Given the description of an element on the screen output the (x, y) to click on. 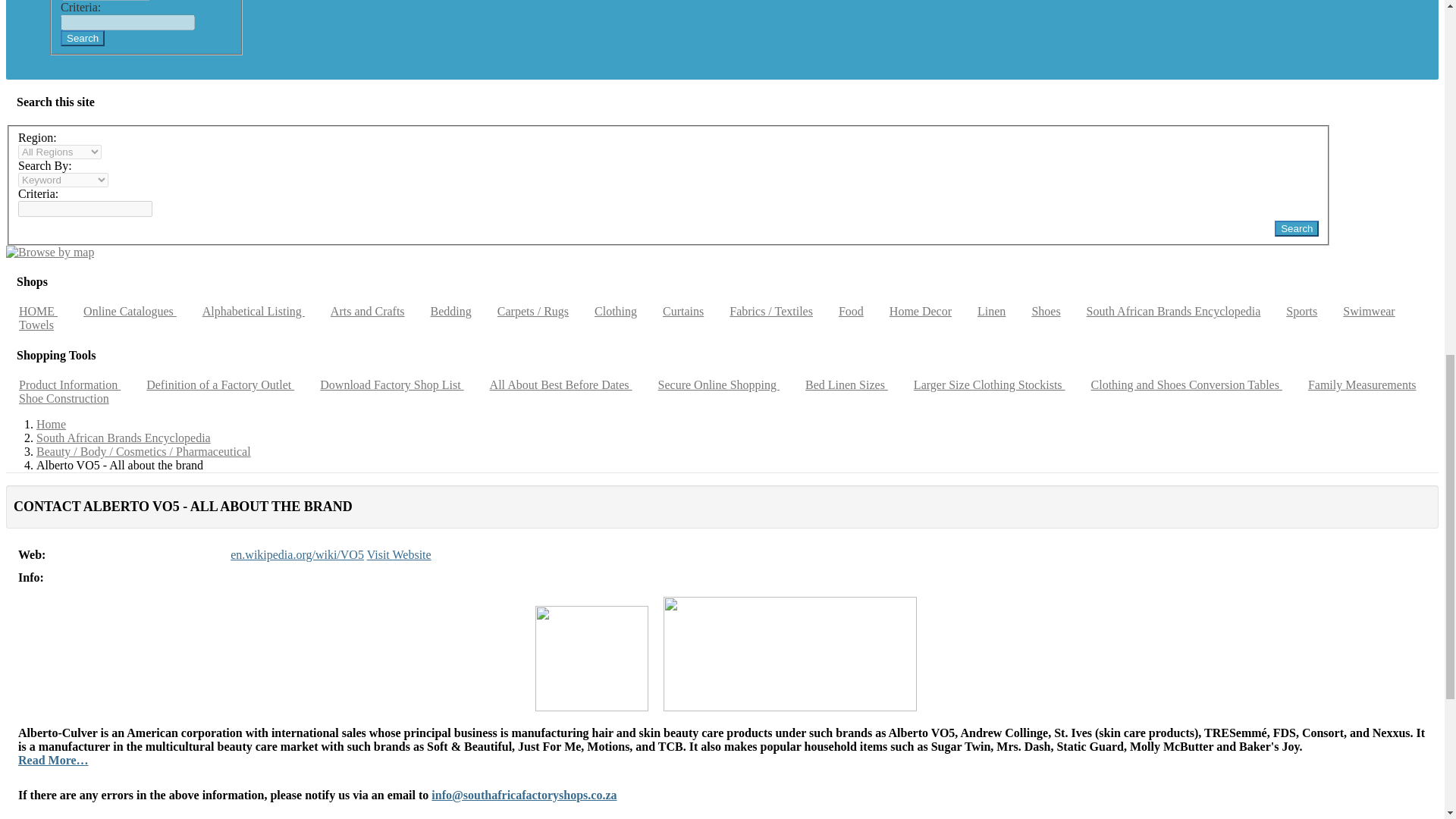
Search (82, 37)
Search (1297, 228)
Search (82, 37)
Search (82, 37)
Search (1297, 228)
Search (1297, 228)
